Given the description of an element on the screen output the (x, y) to click on. 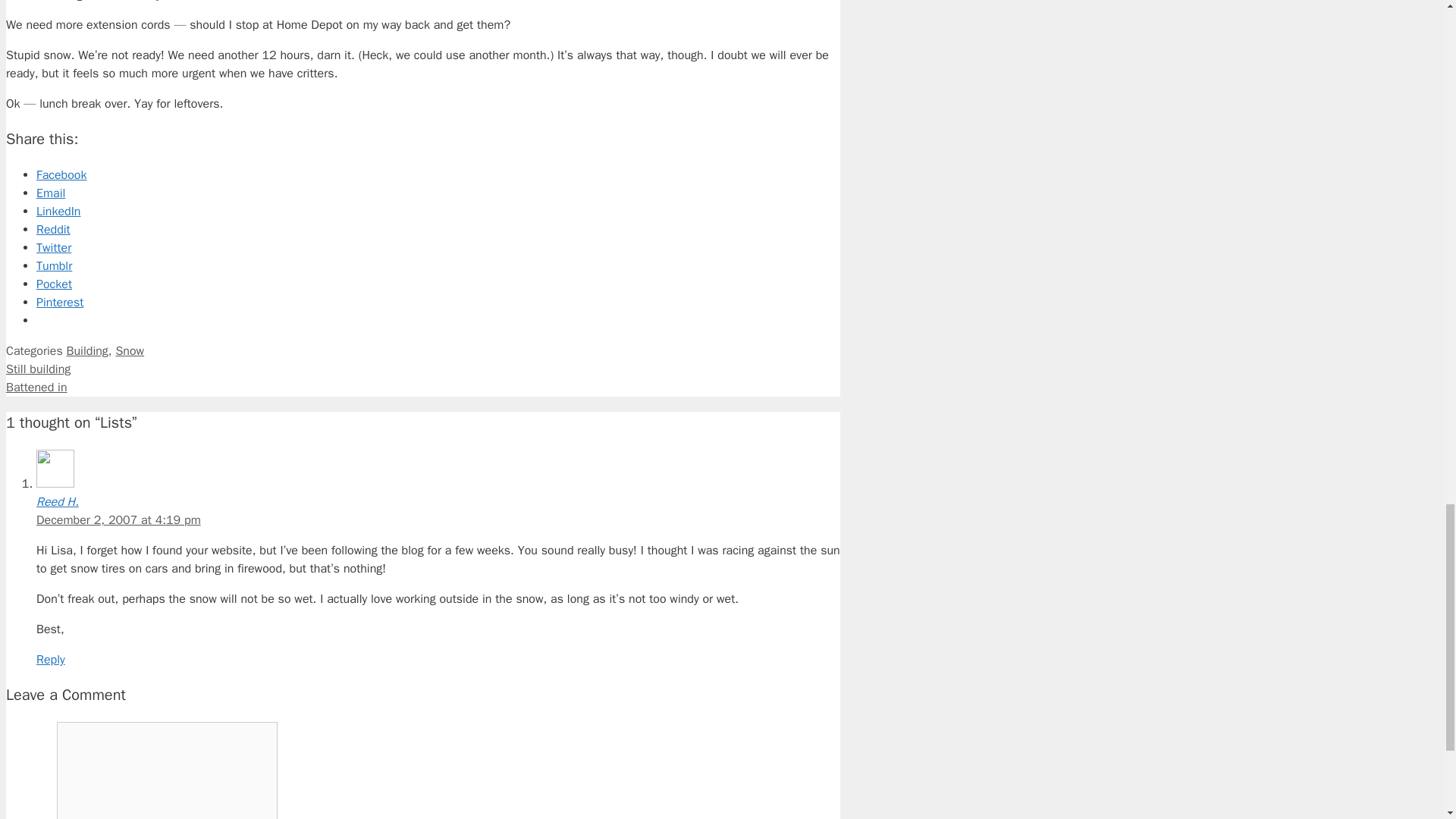
Click to email a link to a friend (50, 192)
Click to share on Tumblr (53, 265)
Click to share on Reddit (52, 229)
Click to share on LinkedIn (58, 211)
Click to share on Facebook (60, 174)
Click to share on Pinterest (59, 302)
Click to share on Twitter (53, 247)
Click to share on Pocket (53, 283)
